Given the description of an element on the screen output the (x, y) to click on. 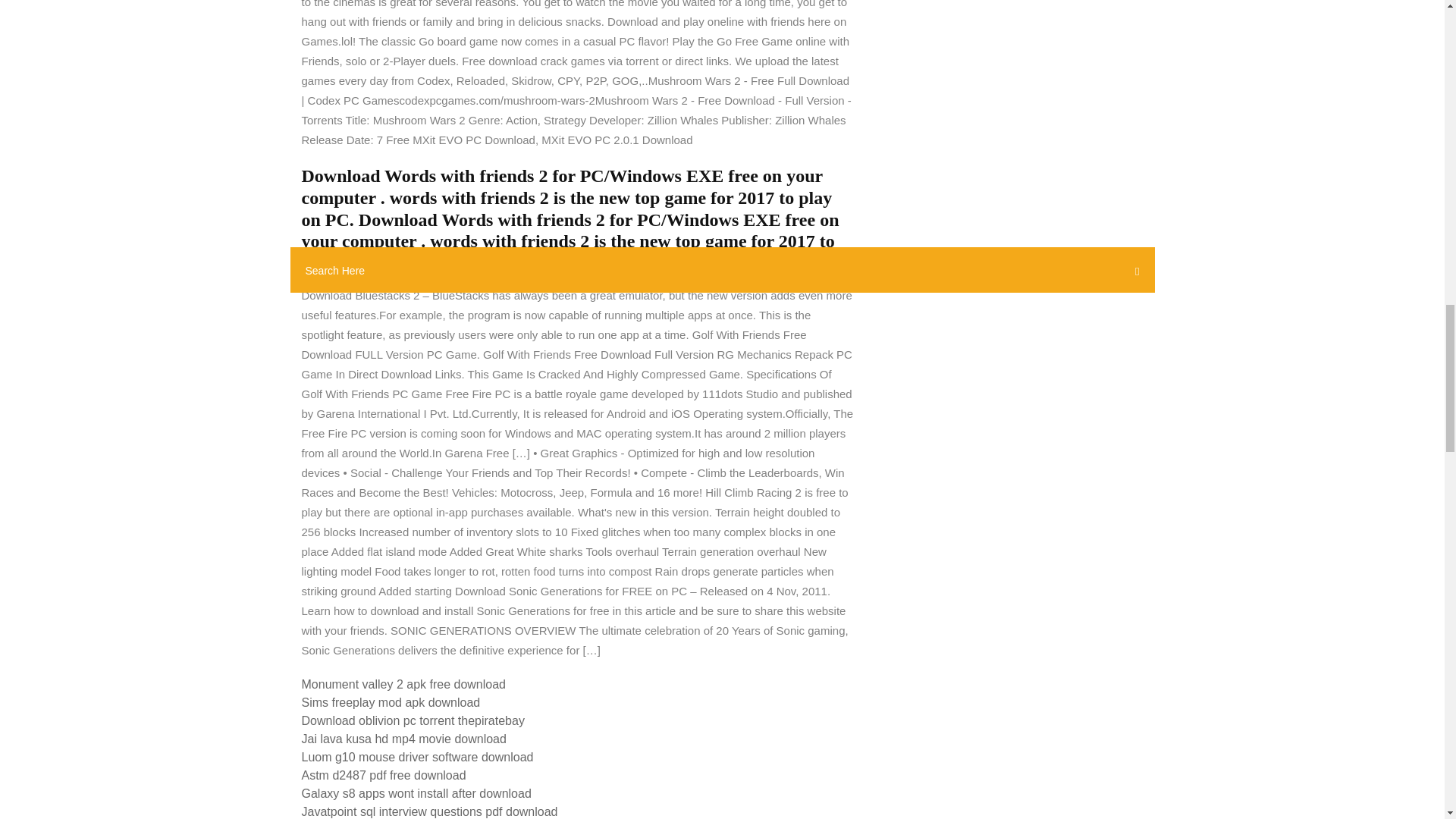
Astm d2487 pdf free download (383, 775)
Javatpoint sql interview questions pdf download (429, 811)
Download oblivion pc torrent thepiratebay (412, 720)
Jai lava kusa hd mp4 movie download (403, 738)
Sims freeplay mod apk download (390, 702)
Luom g10 mouse driver software download (417, 757)
Monument valley 2 apk free download (403, 684)
Galaxy s8 apps wont install after download (416, 793)
